Given the description of an element on the screen output the (x, y) to click on. 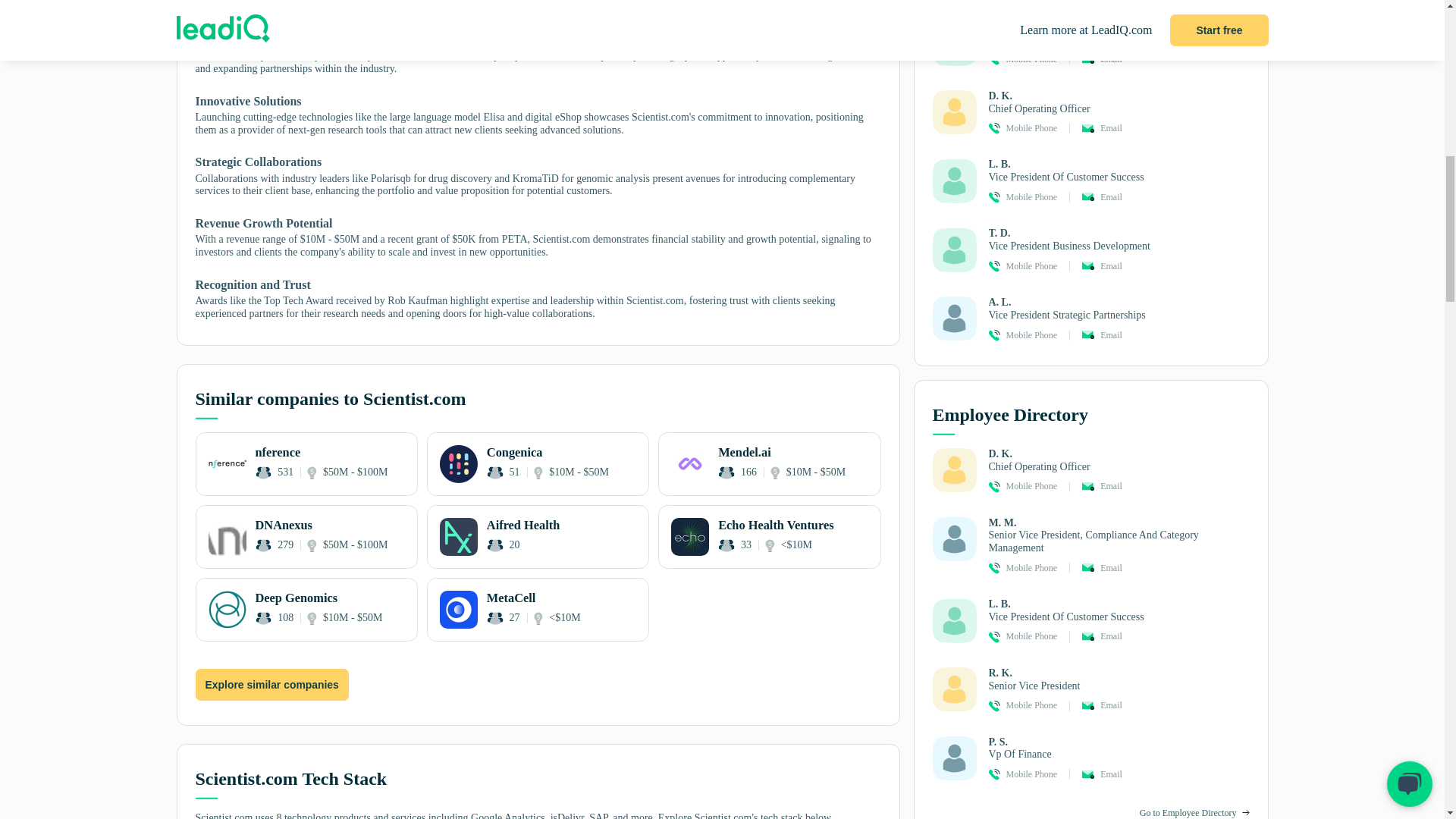
Explore similar companies (537, 536)
Explore similar companies (272, 685)
